Given the description of an element on the screen output the (x, y) to click on. 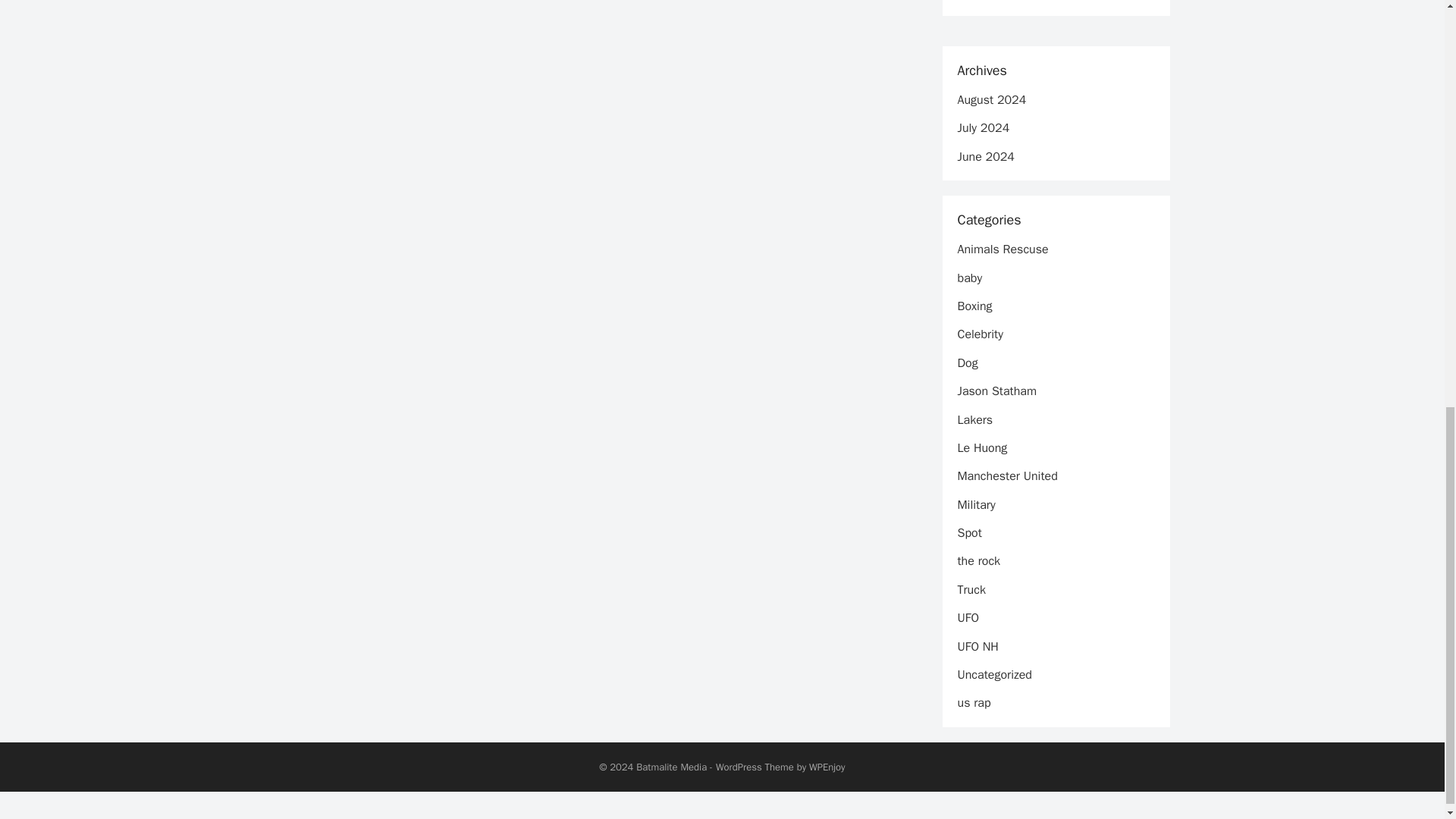
Animals Rescuse (1002, 249)
June 2024 (984, 156)
Boxing (973, 305)
Celebrity (979, 334)
baby (968, 278)
July 2024 (982, 127)
Jason Statham (995, 391)
Lakers (974, 419)
Dog (966, 363)
Military (975, 504)
